Given the description of an element on the screen output the (x, y) to click on. 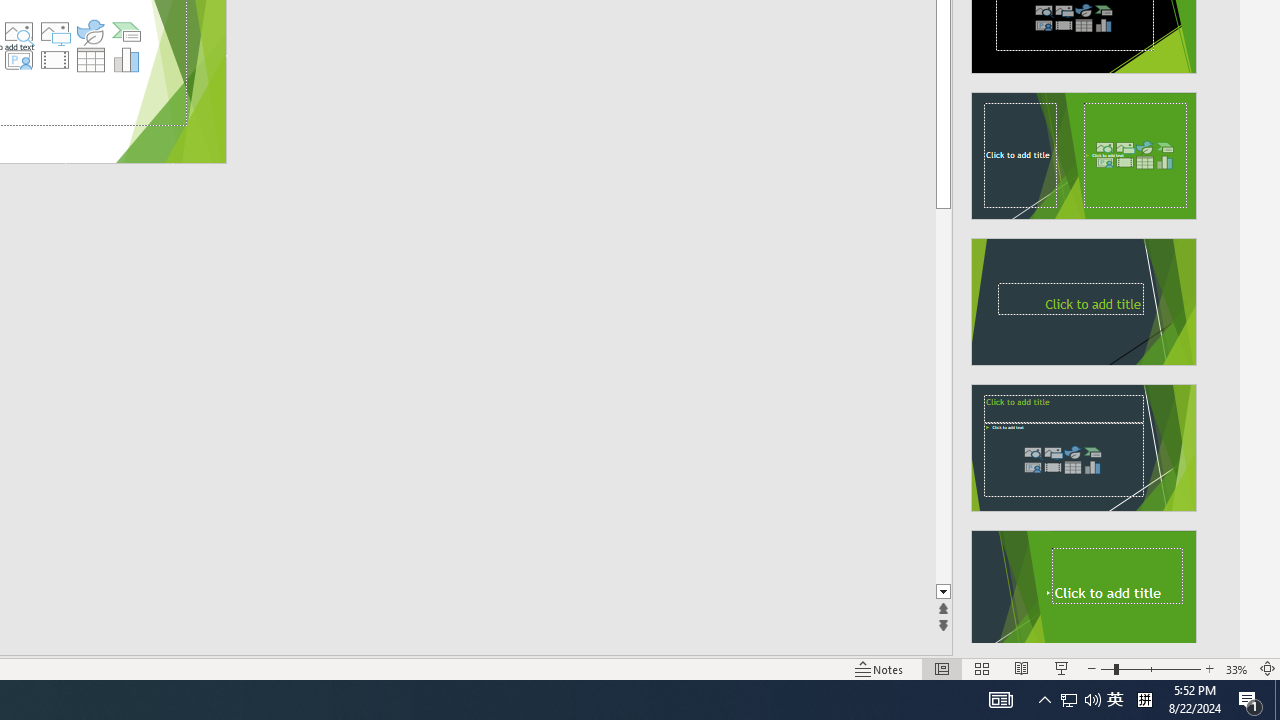
Pictures (54, 32)
Insert an Icon (91, 32)
Insert Table (91, 60)
Page down (943, 395)
